Given the description of an element on the screen output the (x, y) to click on. 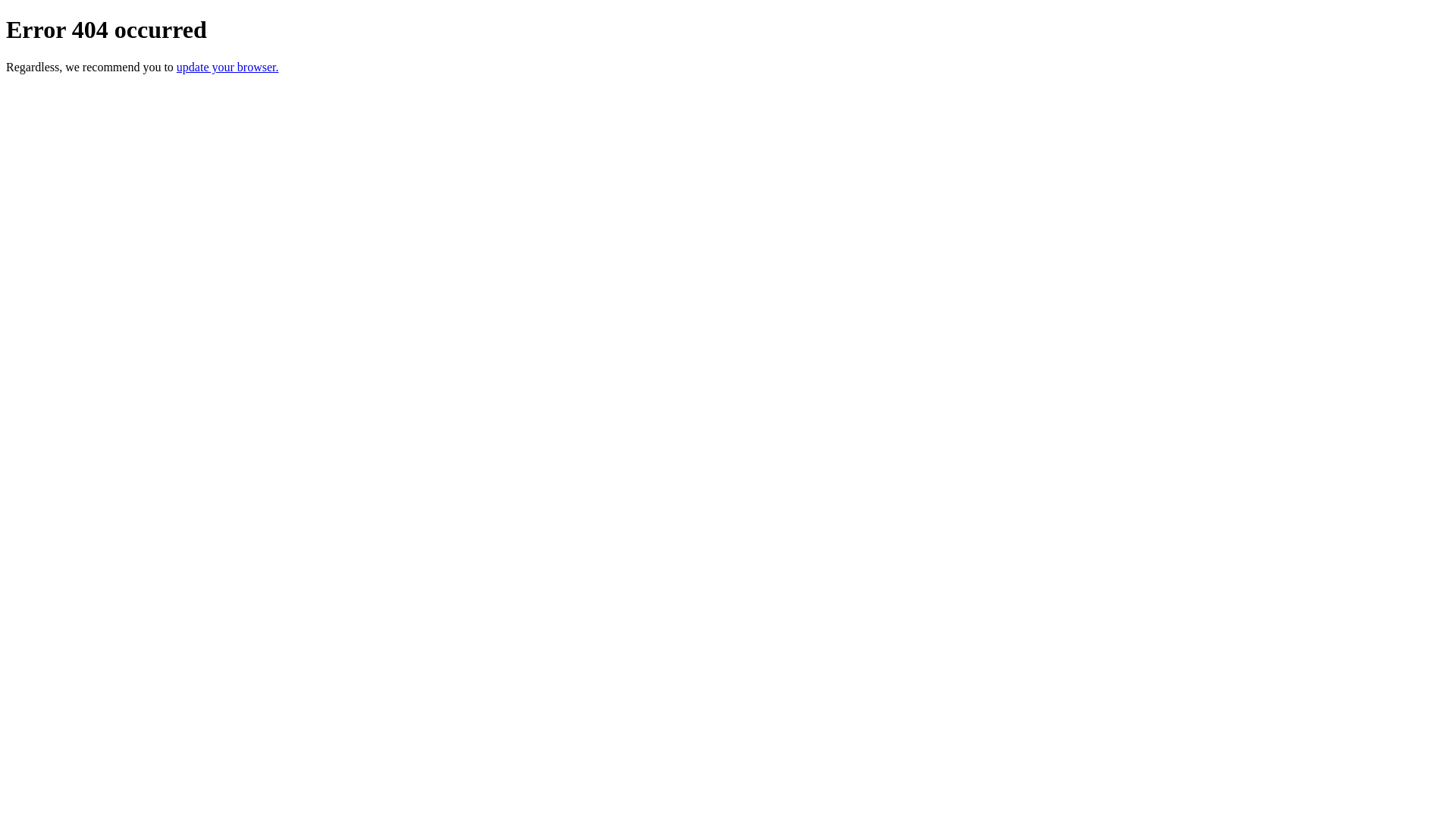
update your browser. Element type: text (227, 66)
